Given the description of an element on the screen output the (x, y) to click on. 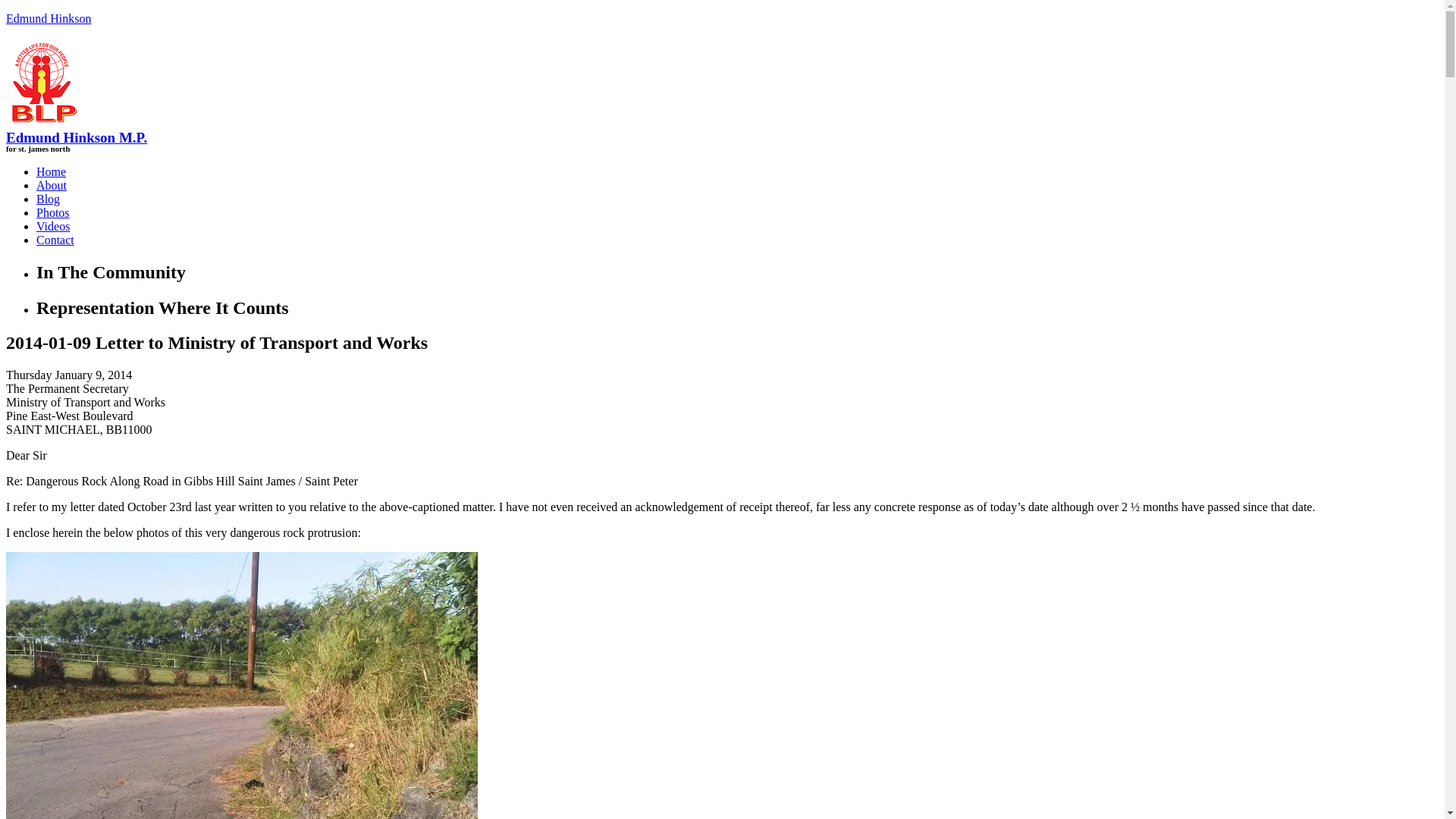
Blog (47, 198)
Videos (52, 226)
Edmund Hinkson (47, 18)
Edmund Hinkson (47, 18)
Contact (55, 239)
Home (50, 171)
Photos (52, 212)
About (51, 185)
